Given the description of an element on the screen output the (x, y) to click on. 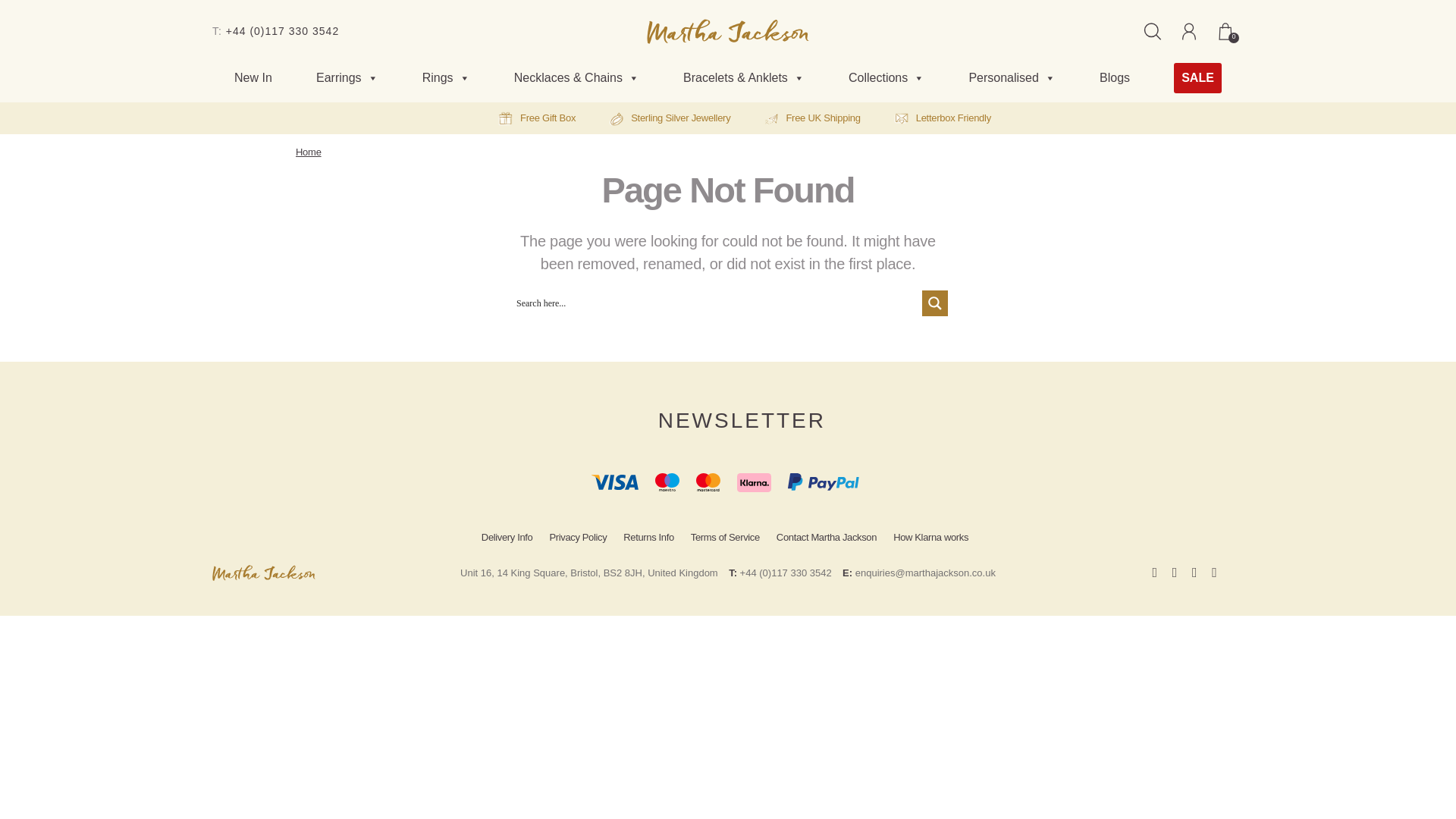
Basket (1225, 30)
My Account (1188, 30)
Rings (446, 78)
Collections (886, 78)
New In (253, 78)
Earrings (346, 78)
0 (1225, 30)
